Given the description of an element on the screen output the (x, y) to click on. 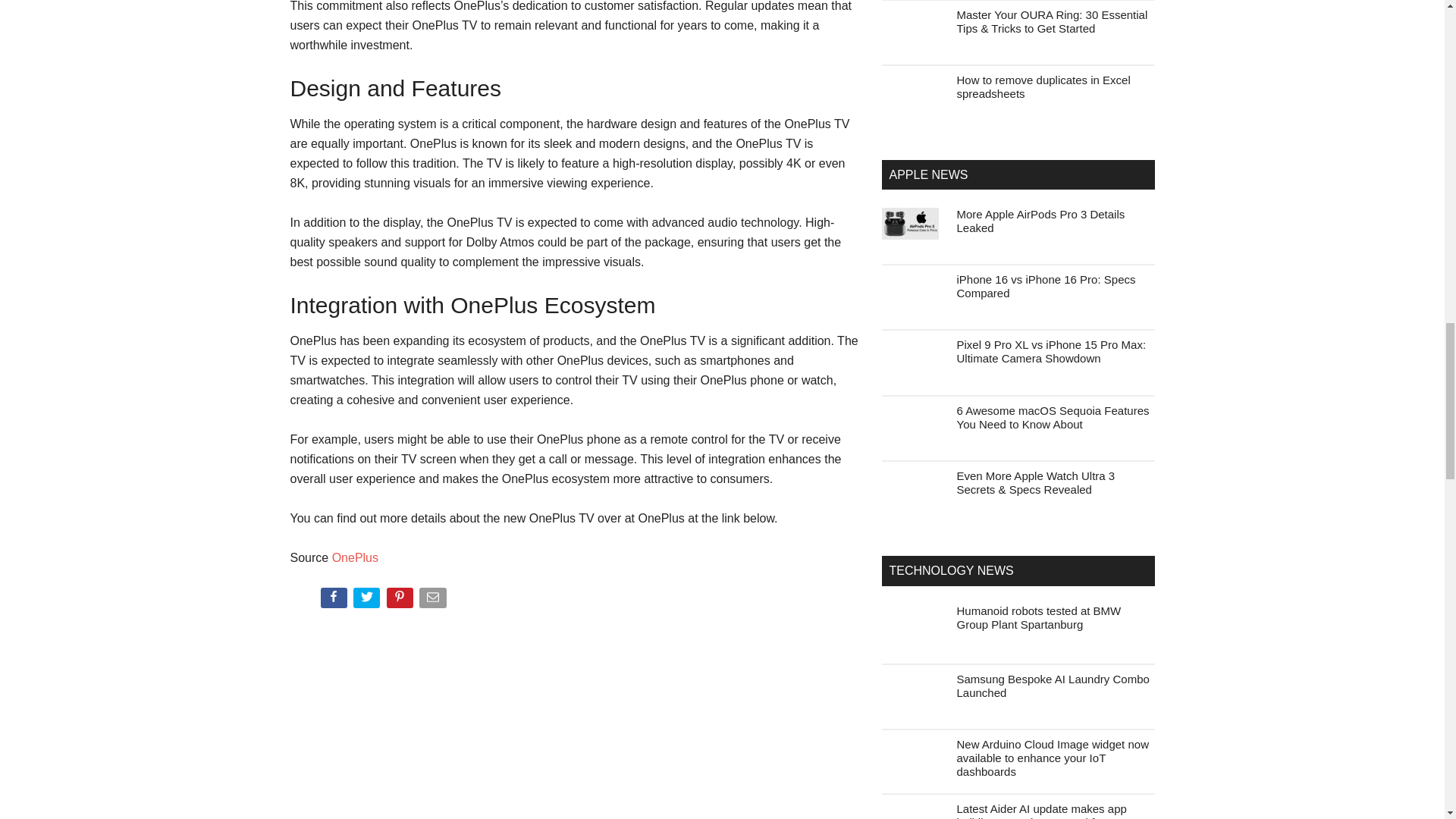
Email (433, 601)
Pin (401, 601)
Share on Facebook (334, 601)
Tweet (367, 601)
OnePlus (354, 557)
